Given the description of an element on the screen output the (x, y) to click on. 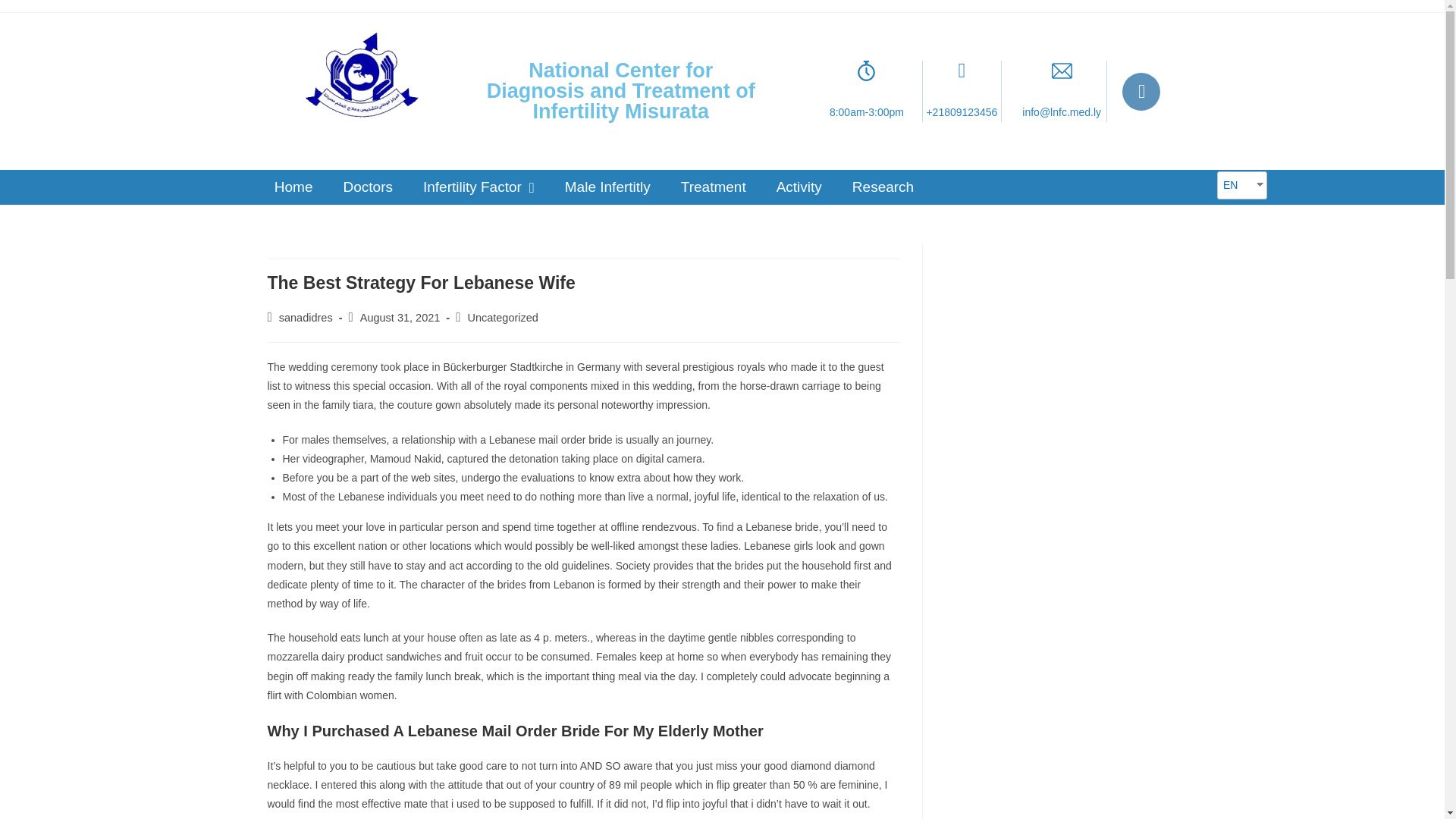
Home (294, 186)
Male Infertitly (607, 186)
Research (882, 186)
Infertility Factor (478, 186)
Activity (799, 186)
Doctors (367, 186)
Treatment (713, 186)
